Given the description of an element on the screen output the (x, y) to click on. 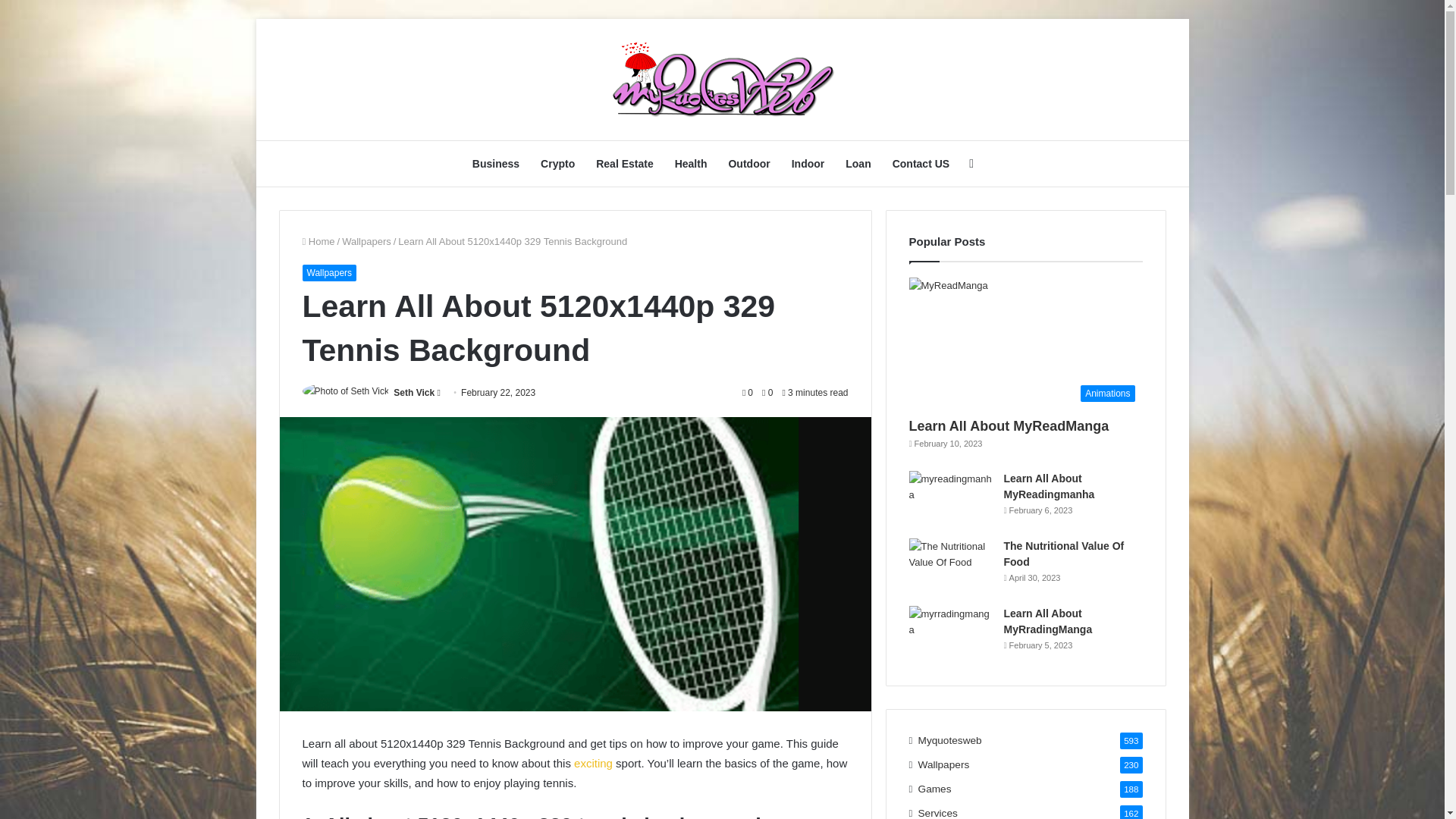
Business (495, 163)
Wallpapers (366, 241)
exciting (592, 762)
Contact US (920, 163)
Wallpapers (328, 272)
Indoor (807, 163)
Real Estate (624, 163)
Home (317, 241)
Loan (857, 163)
Seth Vick (413, 392)
